Given the description of an element on the screen output the (x, y) to click on. 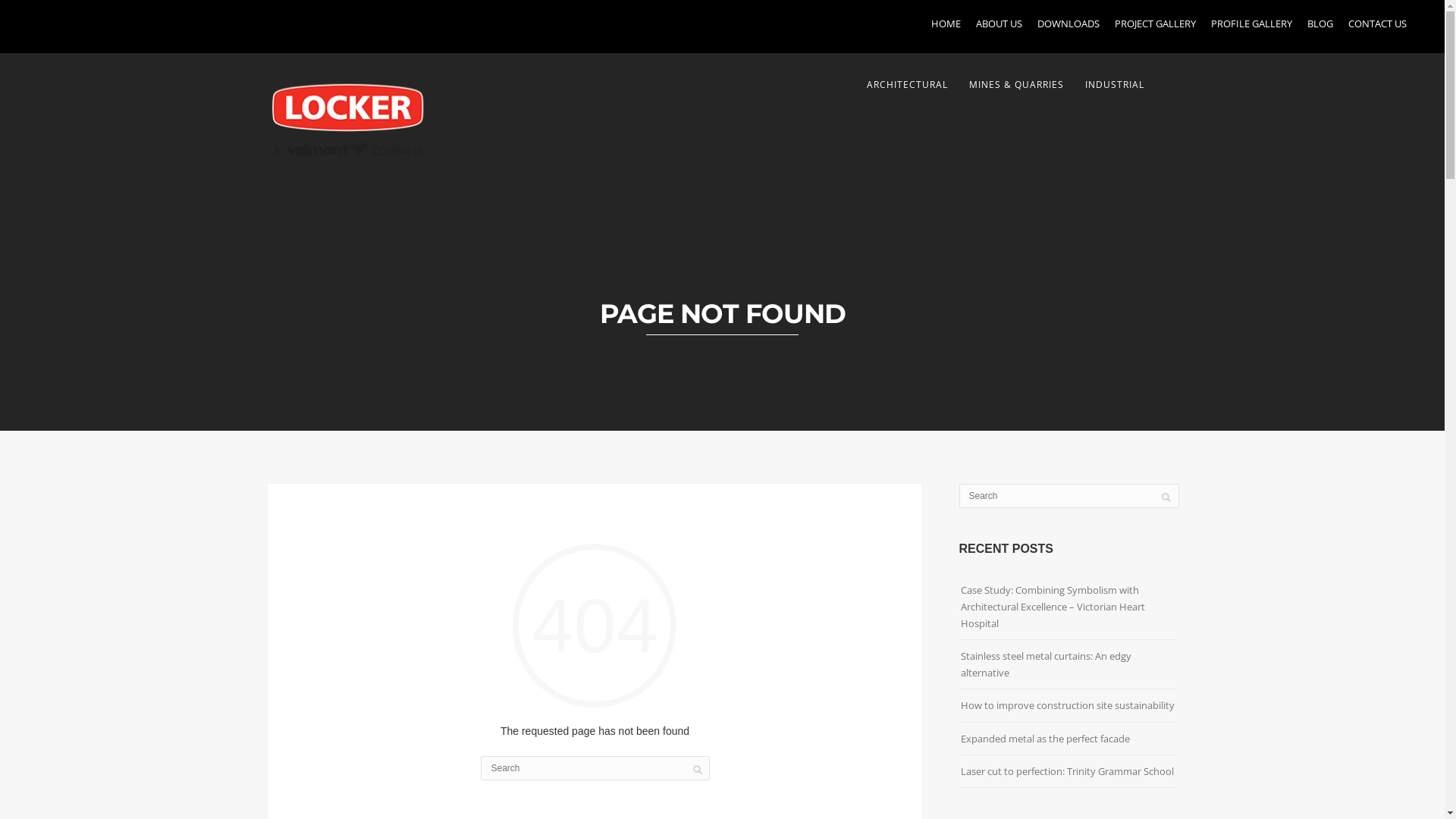
Laser cut to perfection: Trinity Grammar School Element type: text (1066, 770)
CONTACT US Element type: text (1377, 23)
BLOG Element type: text (1320, 23)
ABOUT US Element type: text (998, 23)
Stainless steel metal curtains: An edgy alternative Element type: text (1045, 664)
PROFILE GALLERY Element type: text (1251, 23)
INDUSTRIAL Element type: text (1113, 84)
How to improve construction site sustainability Element type: text (1066, 704)
DOWNLOADS Element type: text (1068, 23)
HOME Element type: text (945, 23)
MINES & QUARRIES Element type: text (1016, 84)
PROJECT GALLERY Element type: text (1154, 23)
Expanded metal as the perfect facade Element type: text (1044, 738)
ARCHITECTURAL Element type: text (906, 84)
